Given the description of an element on the screen output the (x, y) to click on. 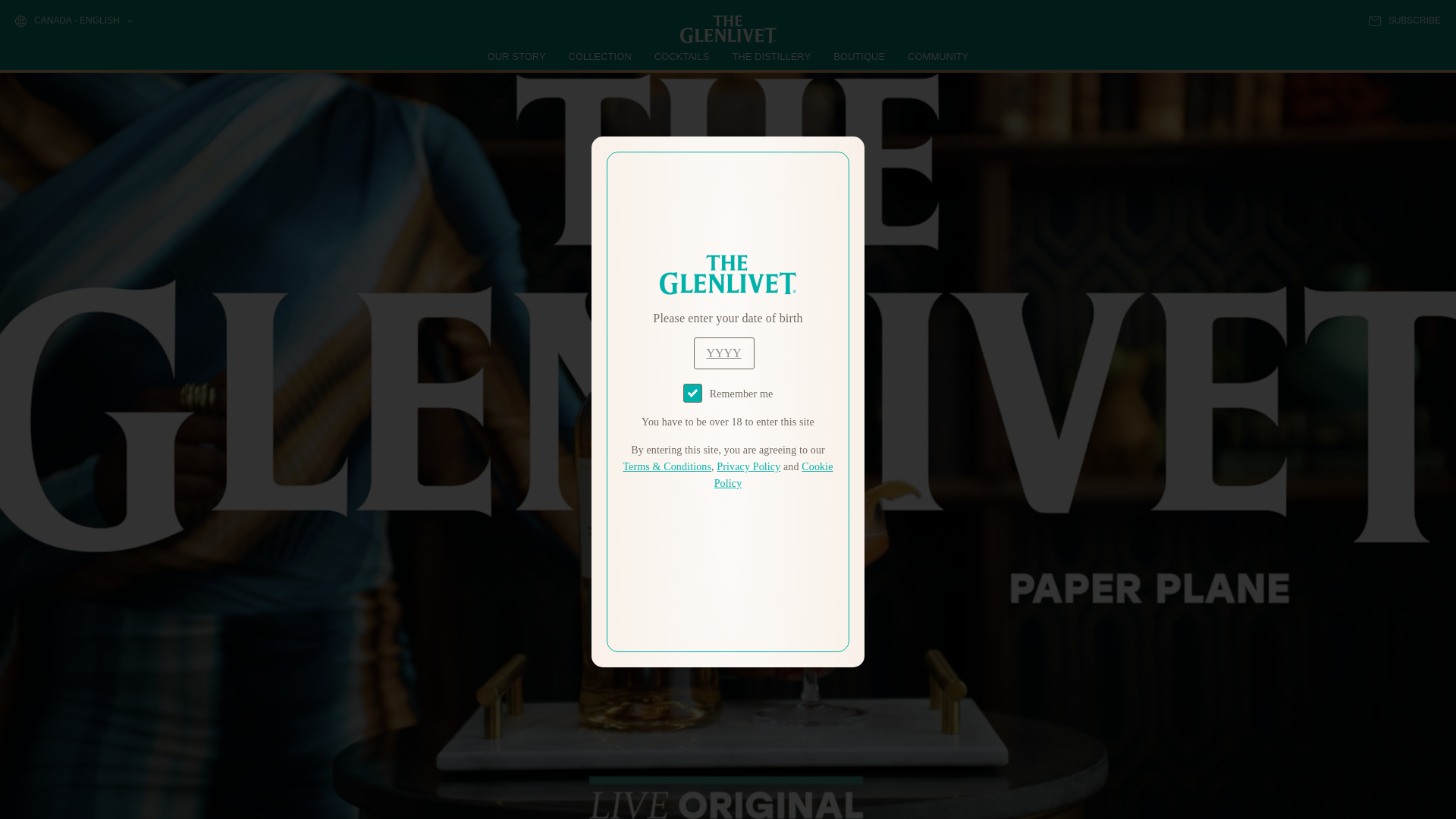
Privacy Policy (748, 466)
COLLECTION (600, 56)
THE DISTILLERY (771, 56)
SUBSCRIBE (1404, 20)
OUR STORY (516, 56)
BOUTIQUE (858, 56)
CANADA - ENGLISH (73, 21)
year (723, 353)
Cookie Policy (773, 474)
COCKTAILS (681, 56)
COMMUNITY (937, 56)
